Given the description of an element on the screen output the (x, y) to click on. 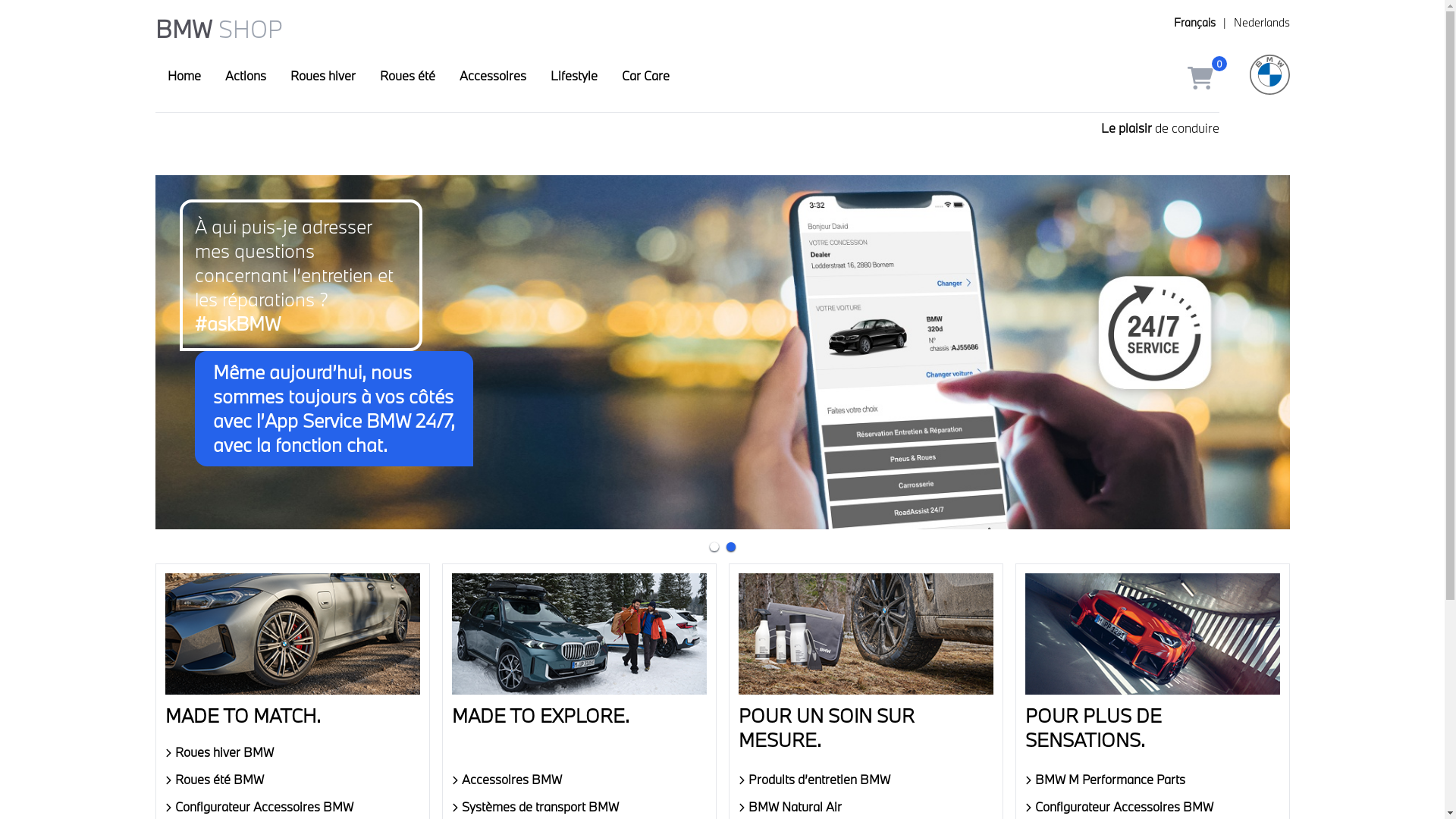
Actions Element type: text (244, 76)
Car Care Element type: text (645, 77)
Configurateur Accessoires BMW Element type: text (292, 806)
0 Element type: text (1203, 77)
Home Element type: text (183, 76)
Nederlands Element type: text (1261, 22)
Roues hiver Element type: text (322, 77)
BMW M Performance Parts Element type: text (1152, 779)
BMW SHOP Element type: text (218, 28)
BMW Natural Air Element type: text (865, 806)
Lifestyle Element type: text (573, 77)
Roues hiver BMW Element type: text (292, 752)
Accessoires Element type: text (492, 77)
Configurateur Accessoires BMW Element type: text (1152, 806)
Accessoires BMW Element type: text (578, 779)
